Given the description of an element on the screen output the (x, y) to click on. 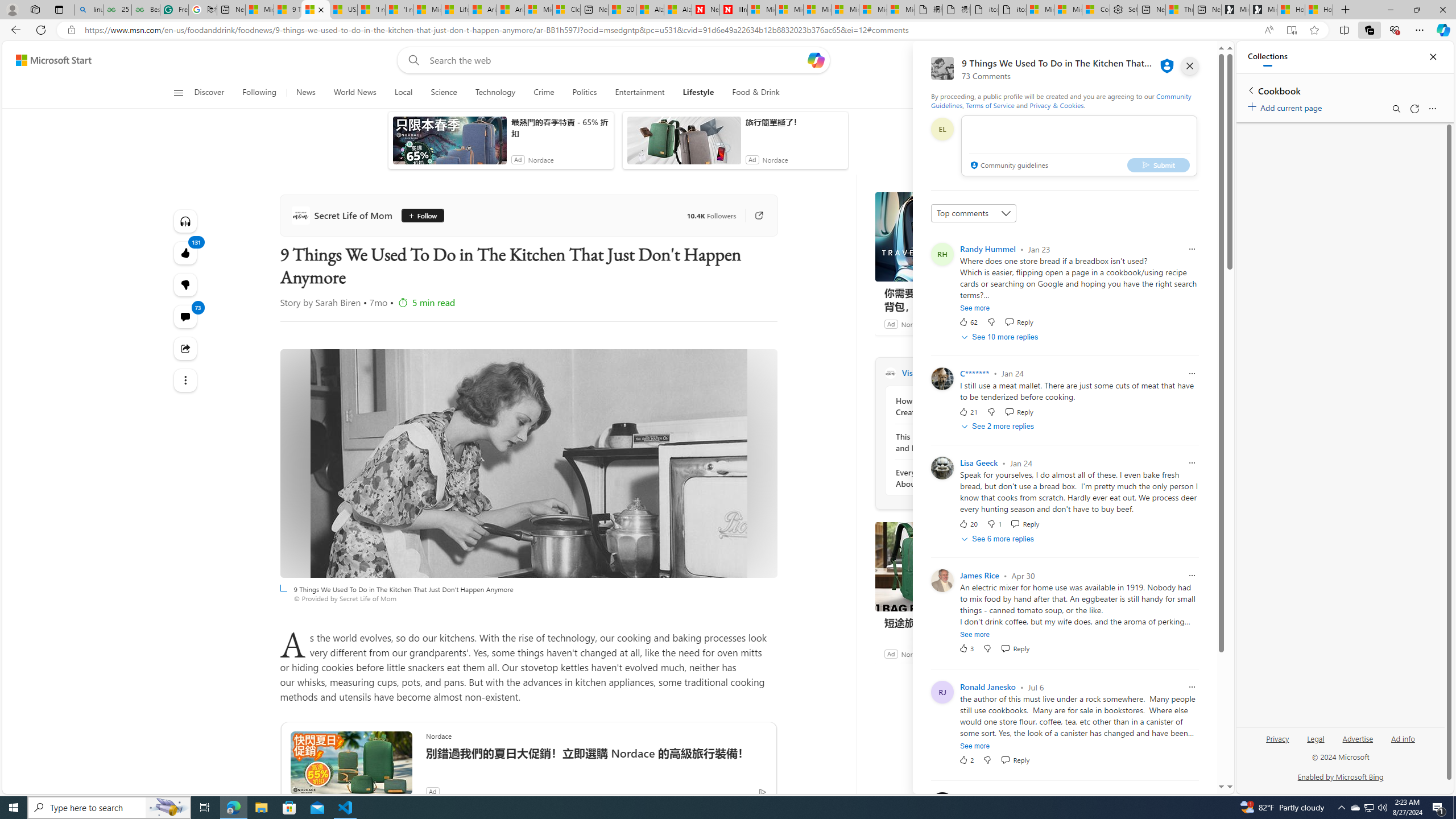
Community guidelines (1008, 165)
C******* (974, 373)
Profile Picture (941, 803)
20 Ways to Boost Your Protein Intake at Every Meal (621, 9)
Lisa Geeck (978, 463)
